Given the description of an element on the screen output the (x, y) to click on. 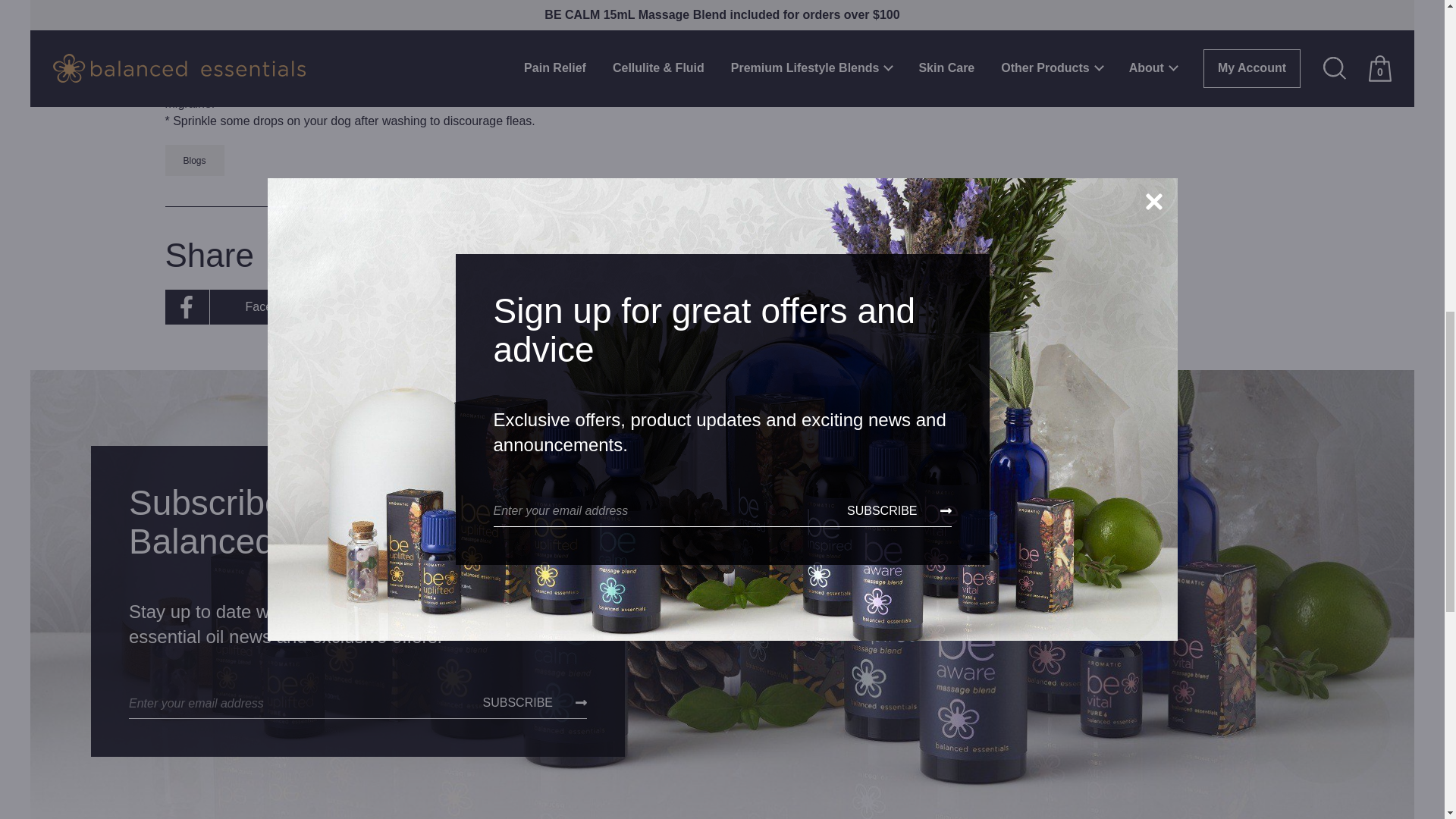
Blogs (194, 160)
SUBSCRIBE (534, 703)
Share by Email (714, 307)
Share by Twitter (565, 307)
Share by Facebook (245, 307)
Twitter (565, 307)
Facebook (245, 307)
Linkedin (409, 307)
Share by Linkedin (409, 307)
Email (714, 307)
